Given the description of an element on the screen output the (x, y) to click on. 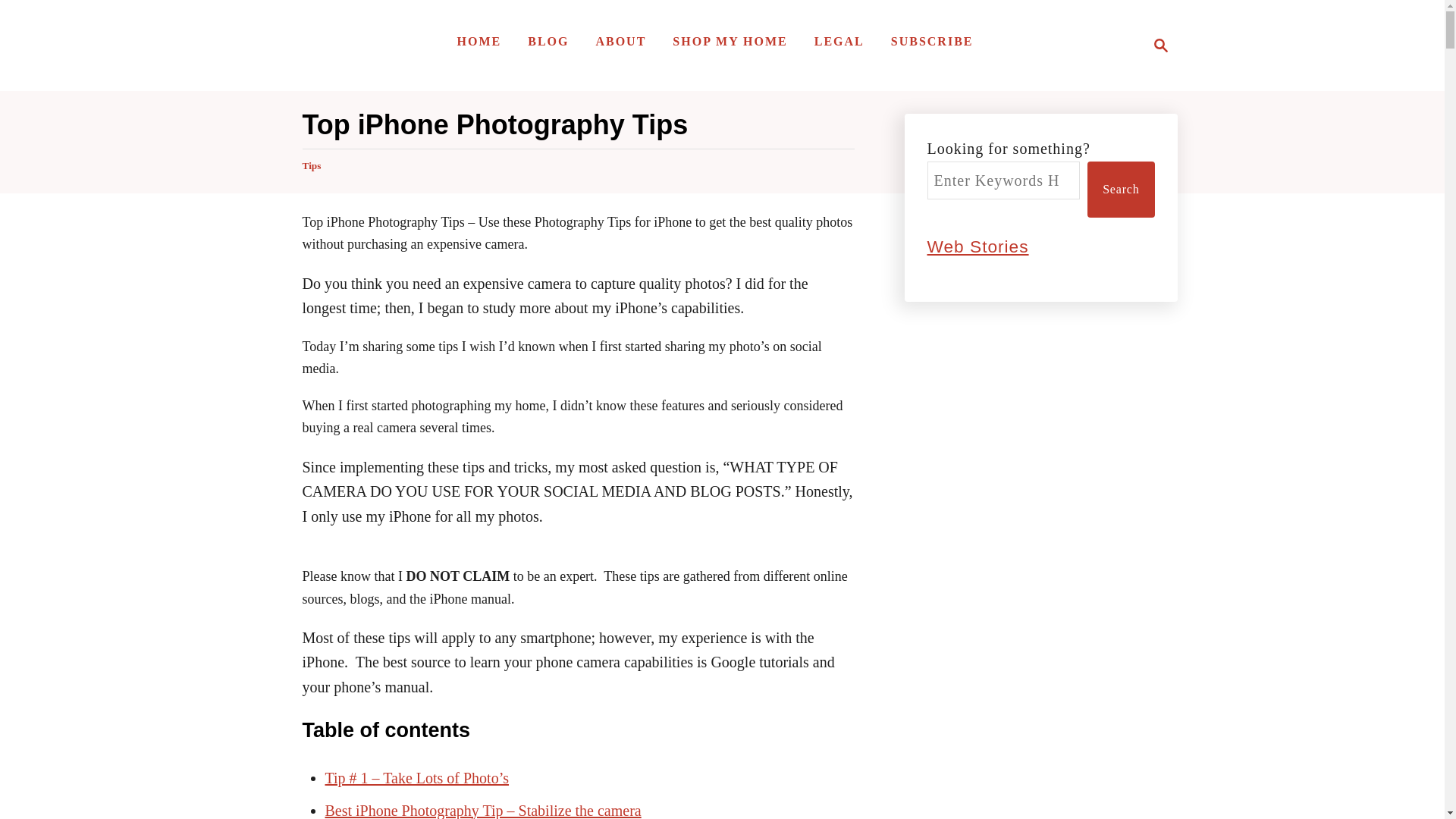
ABOUT (620, 41)
LEGAL (839, 41)
SHOP MY HOME (729, 41)
Tips (1155, 45)
Magnifying Glass (310, 165)
HOME (1160, 45)
Skip to Content (479, 41)
SUBSCRIBE (547, 41)
